Given the description of an element on the screen output the (x, y) to click on. 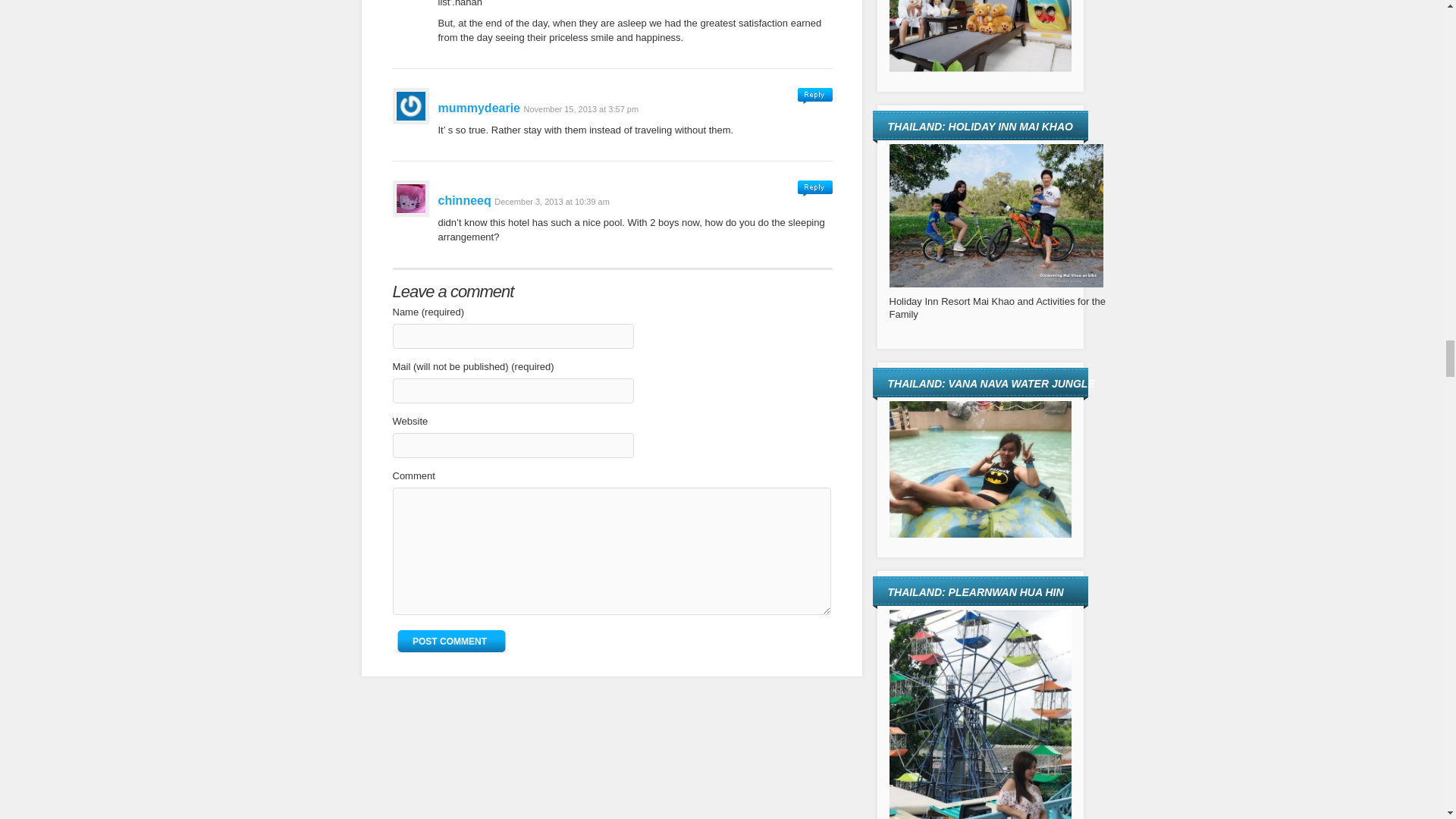
POST COMMENT (449, 640)
